Given the description of an element on the screen output the (x, y) to click on. 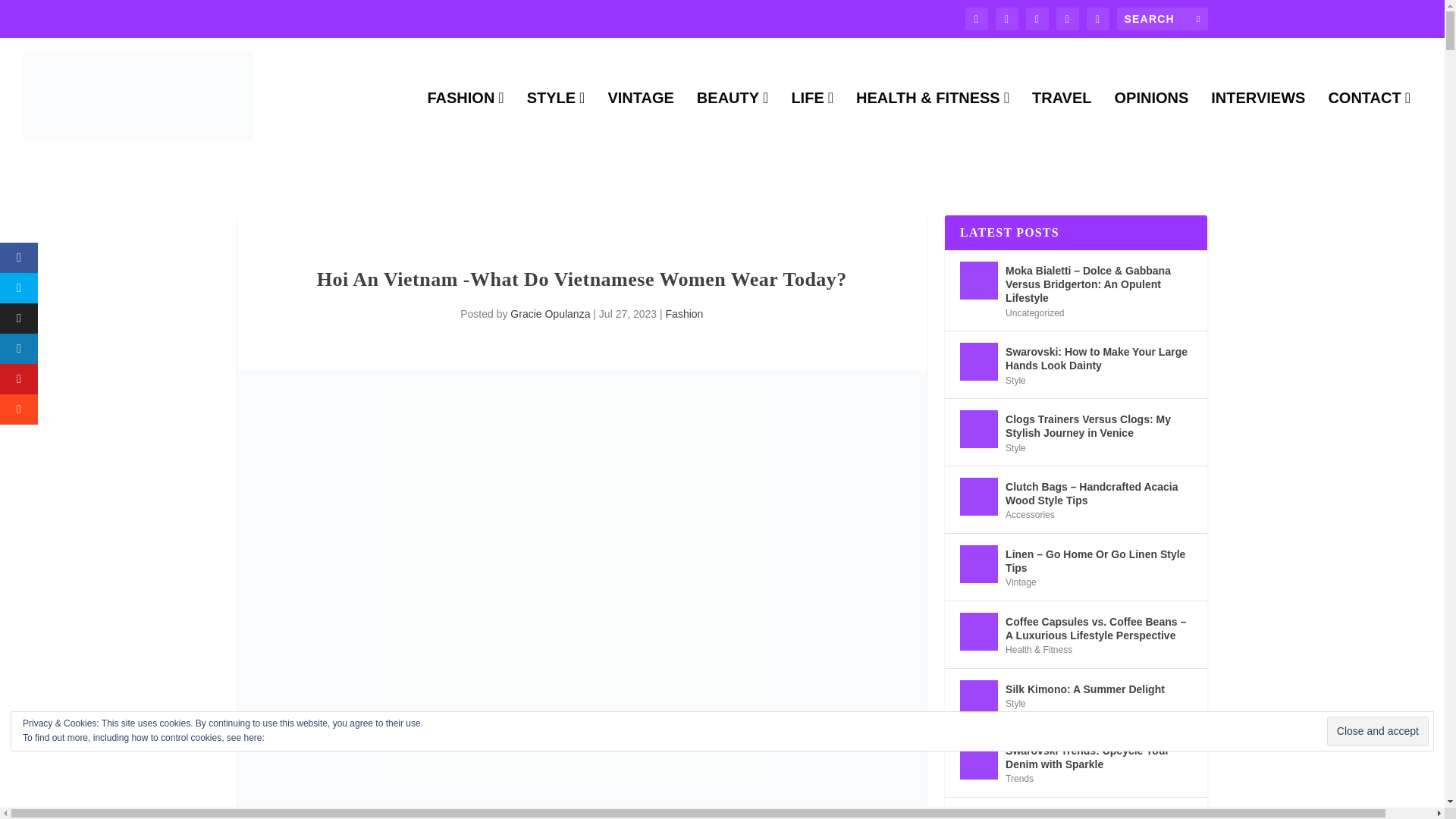
FASHION (464, 122)
Close and accept (1377, 731)
Posts by Gracie Opulanza (550, 313)
BEAUTY (732, 122)
VINTAGE (639, 122)
STYLE (556, 122)
Swarovski: How to Make Your Large Hands Look Dainty (978, 361)
Search for: (1161, 18)
Clogs Trainers Versus Clogs: My Stylish Journey in Venice (978, 428)
